Given the description of an element on the screen output the (x, y) to click on. 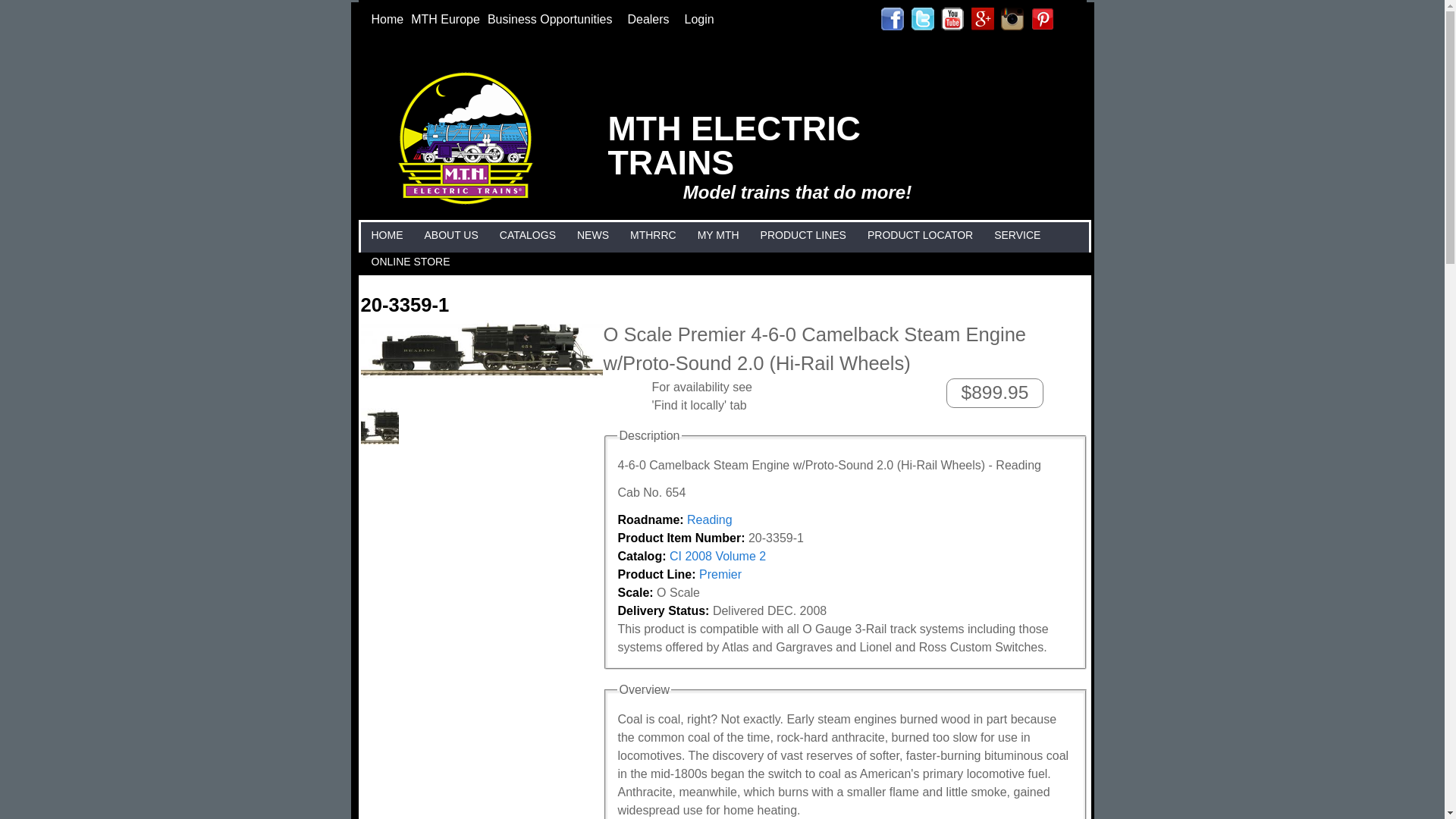
CI 2008 Volume 2 (717, 555)
MTH ELECTRIC TRAINS (734, 144)
HOME (386, 234)
NEWS (593, 234)
Premier (719, 574)
Dealers (651, 19)
MY MTH (718, 234)
Home (386, 19)
CATALOGS (527, 234)
MTH Europe (445, 19)
Login (699, 19)
SERVICE (1016, 234)
MTHRRC (652, 234)
ONLINE STORE (409, 261)
